Given the description of an element on the screen output the (x, y) to click on. 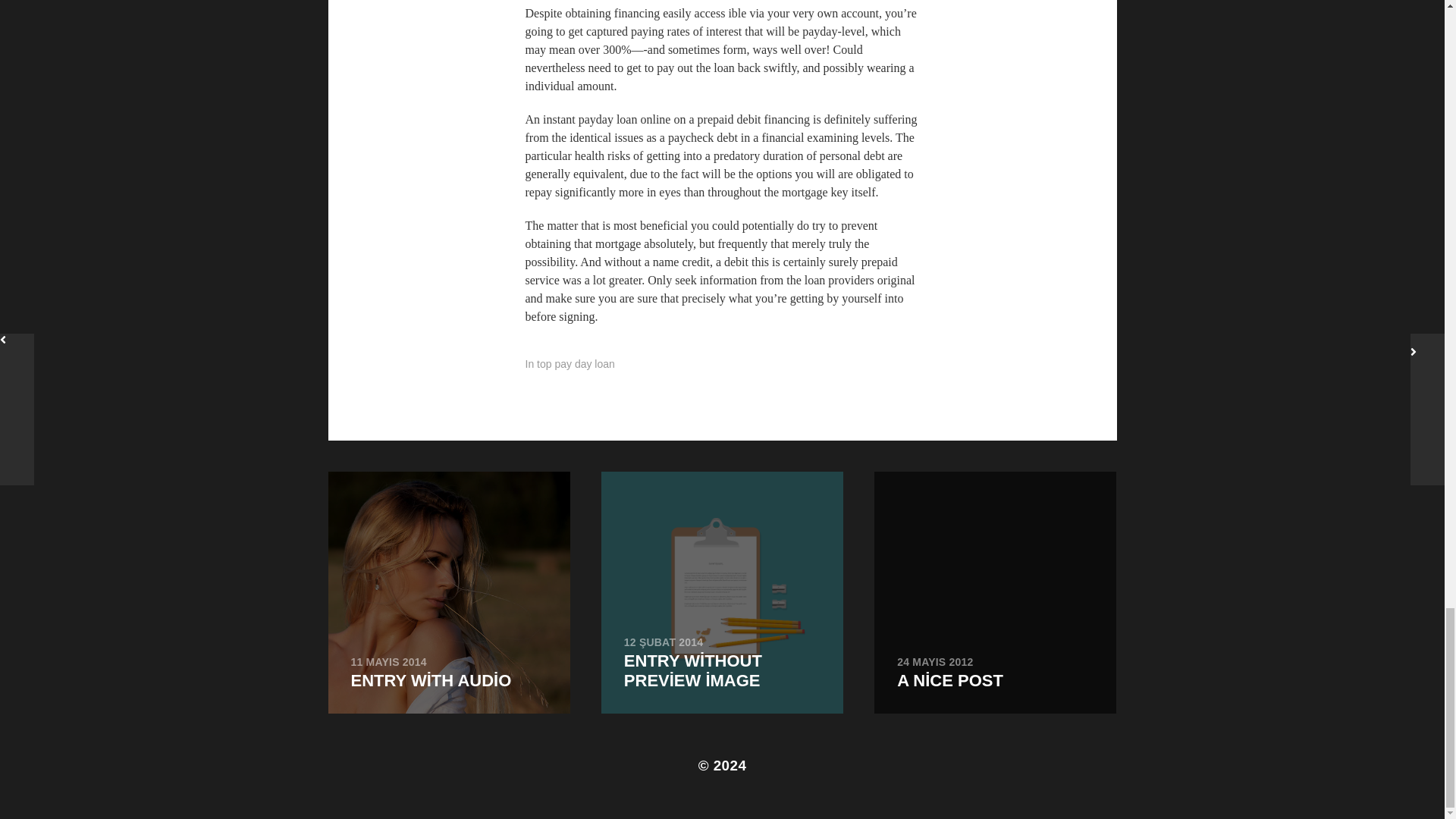
top pay day loan (995, 592)
